Given the description of an element on the screen output the (x, y) to click on. 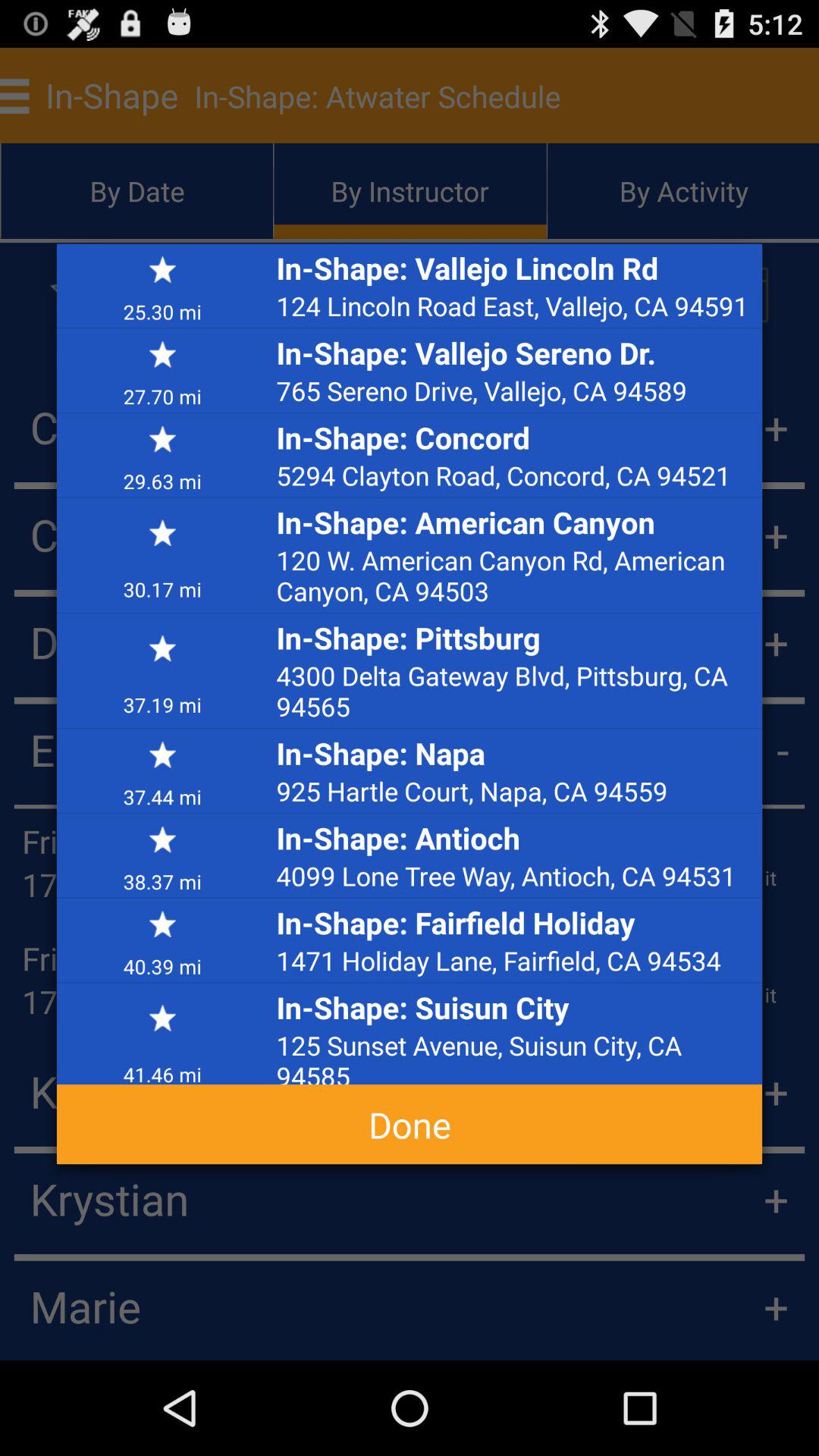
turn on the 125 sunset avenue (515, 1055)
